Given the description of an element on the screen output the (x, y) to click on. 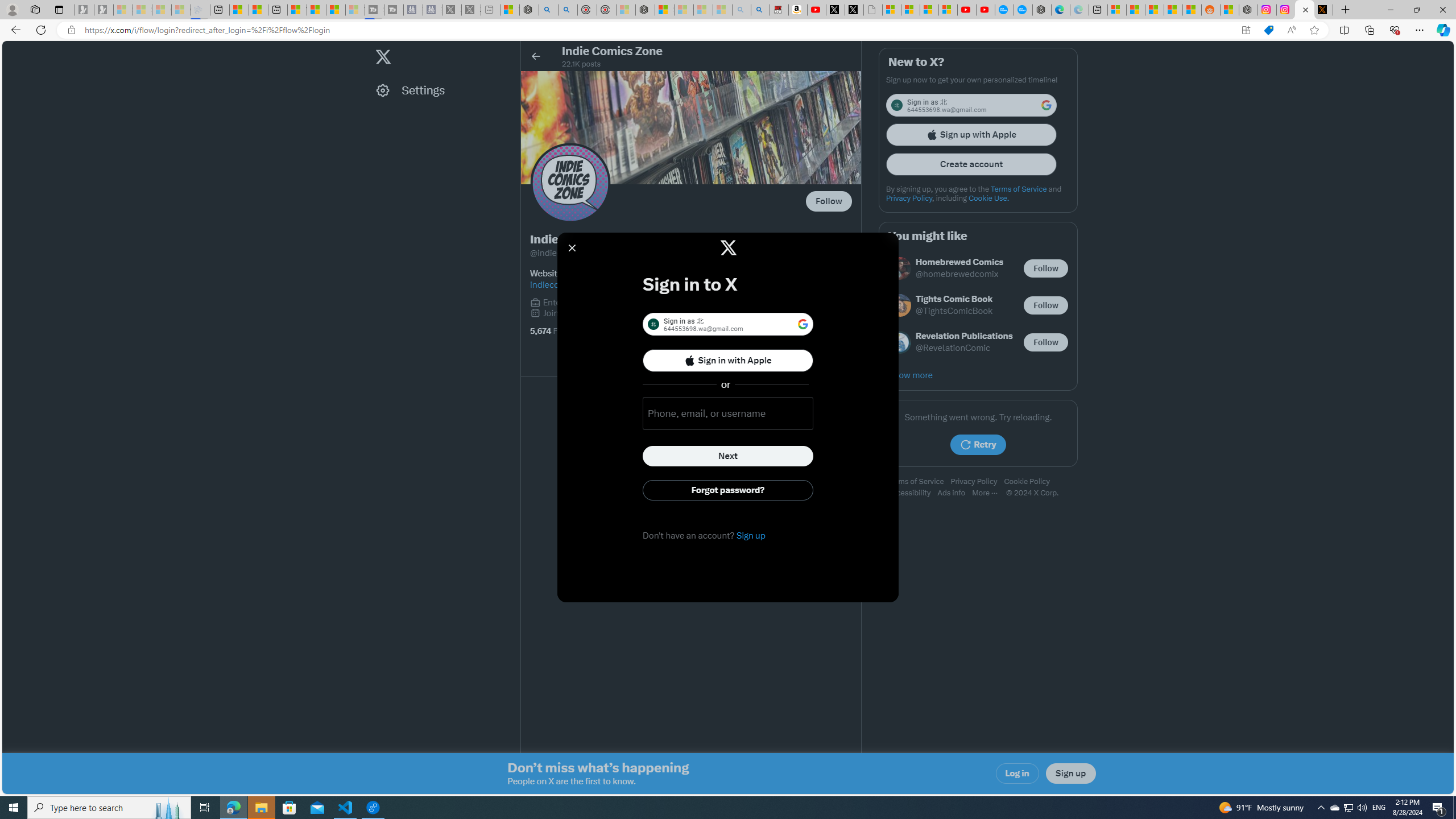
The most popular Google 'how to' searches (1022, 9)
Address and search bar (658, 29)
Nordace - Nordace Siena Is Not An Ordinary Backpack (644, 9)
Streaming Coverage | T3 - Sleeping (373, 9)
Newsletter Sign Up - Sleeping (102, 9)
